Given the description of an element on the screen output the (x, y) to click on. 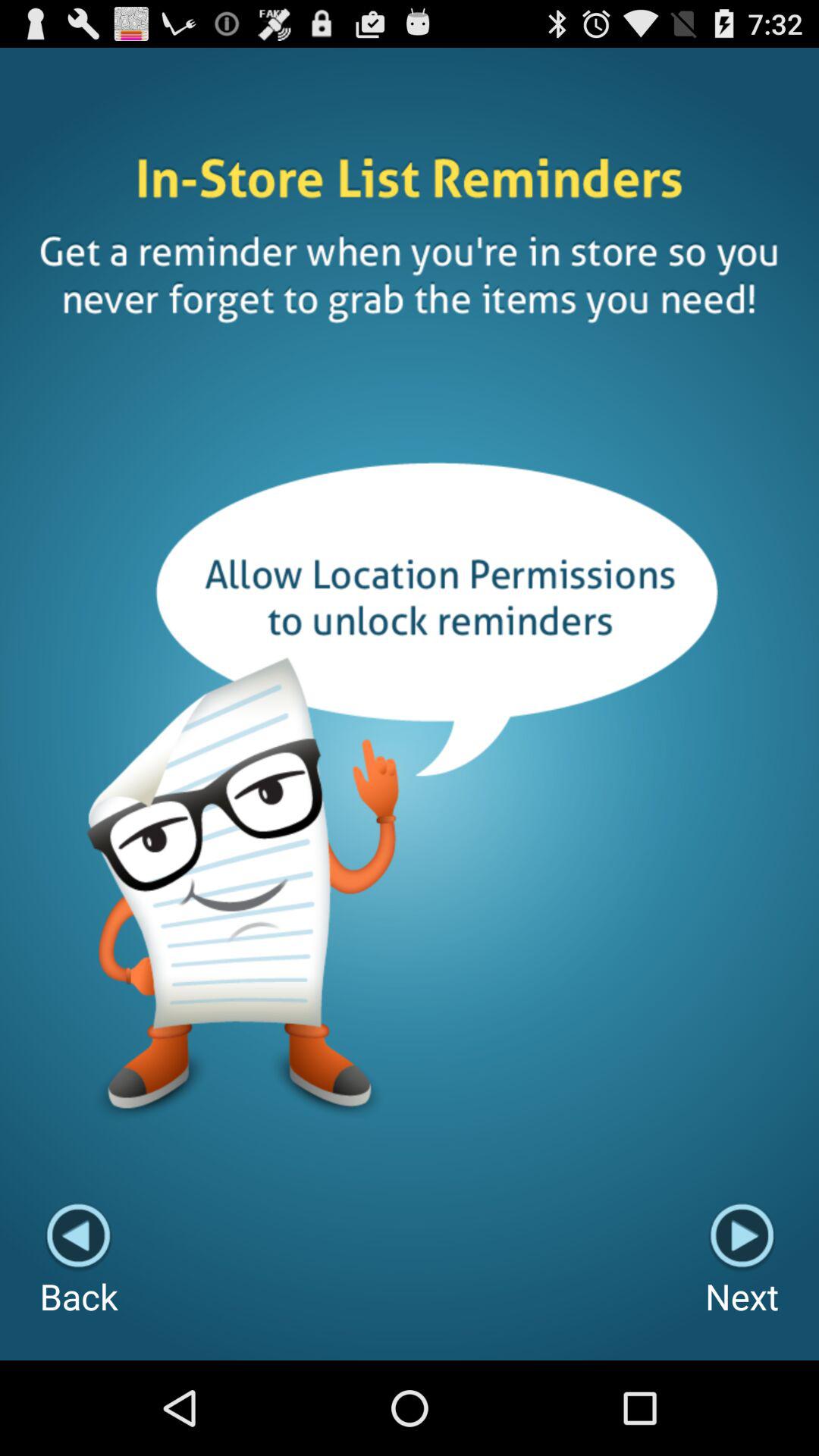
turn on icon next to the back (742, 1260)
